Given the description of an element on the screen output the (x, y) to click on. 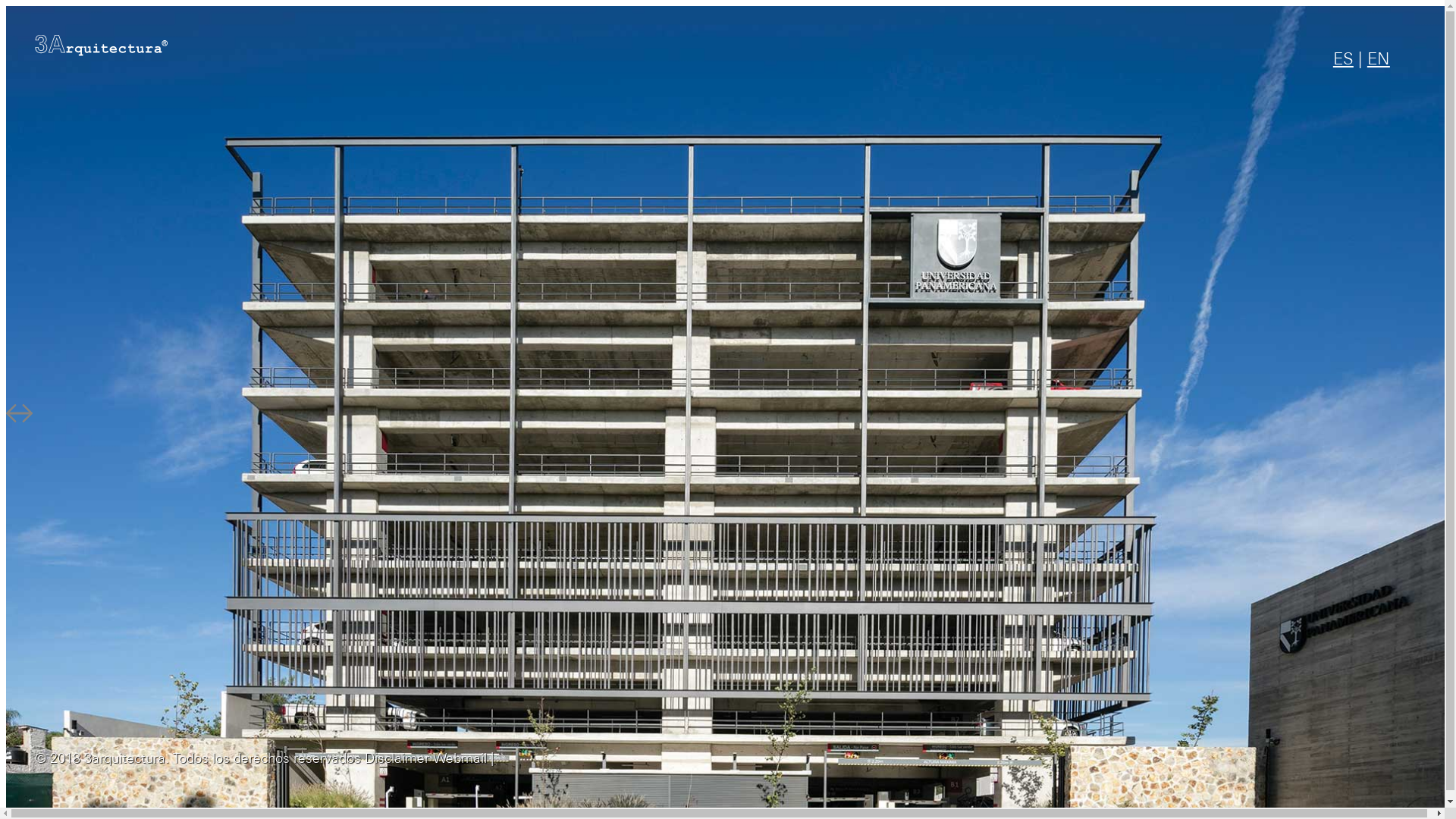
EN Element type: text (1378, 60)
Webmail | Element type: text (463, 759)
Disclaimer Element type: text (396, 759)
ES Element type: text (1343, 60)
